Given the description of an element on the screen output the (x, y) to click on. 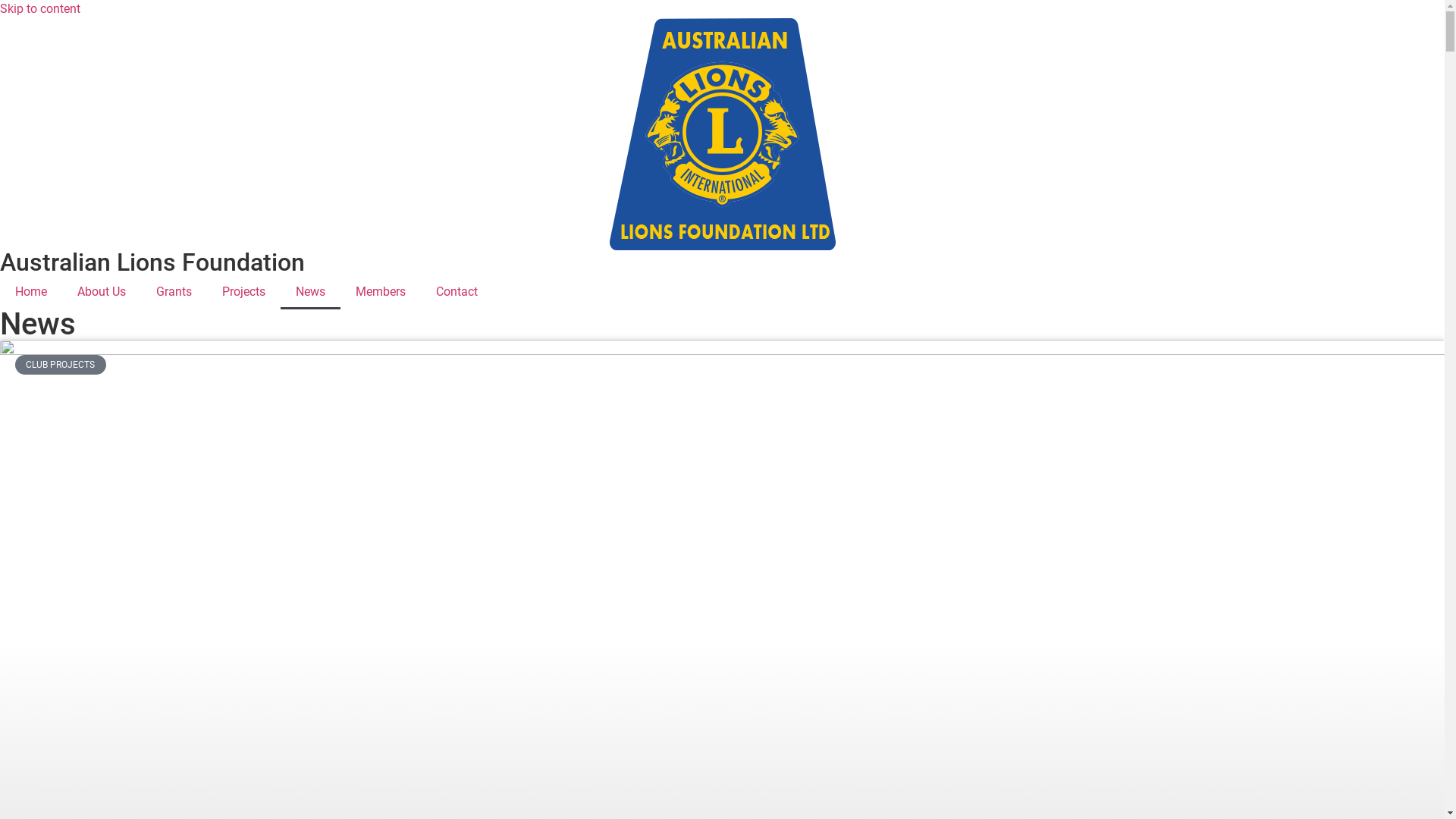
News Element type: text (310, 291)
Grants Element type: text (174, 291)
Contact Element type: text (456, 291)
About Us Element type: text (101, 291)
Projects Element type: text (243, 291)
Skip to content Element type: text (40, 8)
Australian Lions Foundation Element type: text (152, 261)
Home Element type: text (31, 291)
Members Element type: text (380, 291)
